Given the description of an element on the screen output the (x, y) to click on. 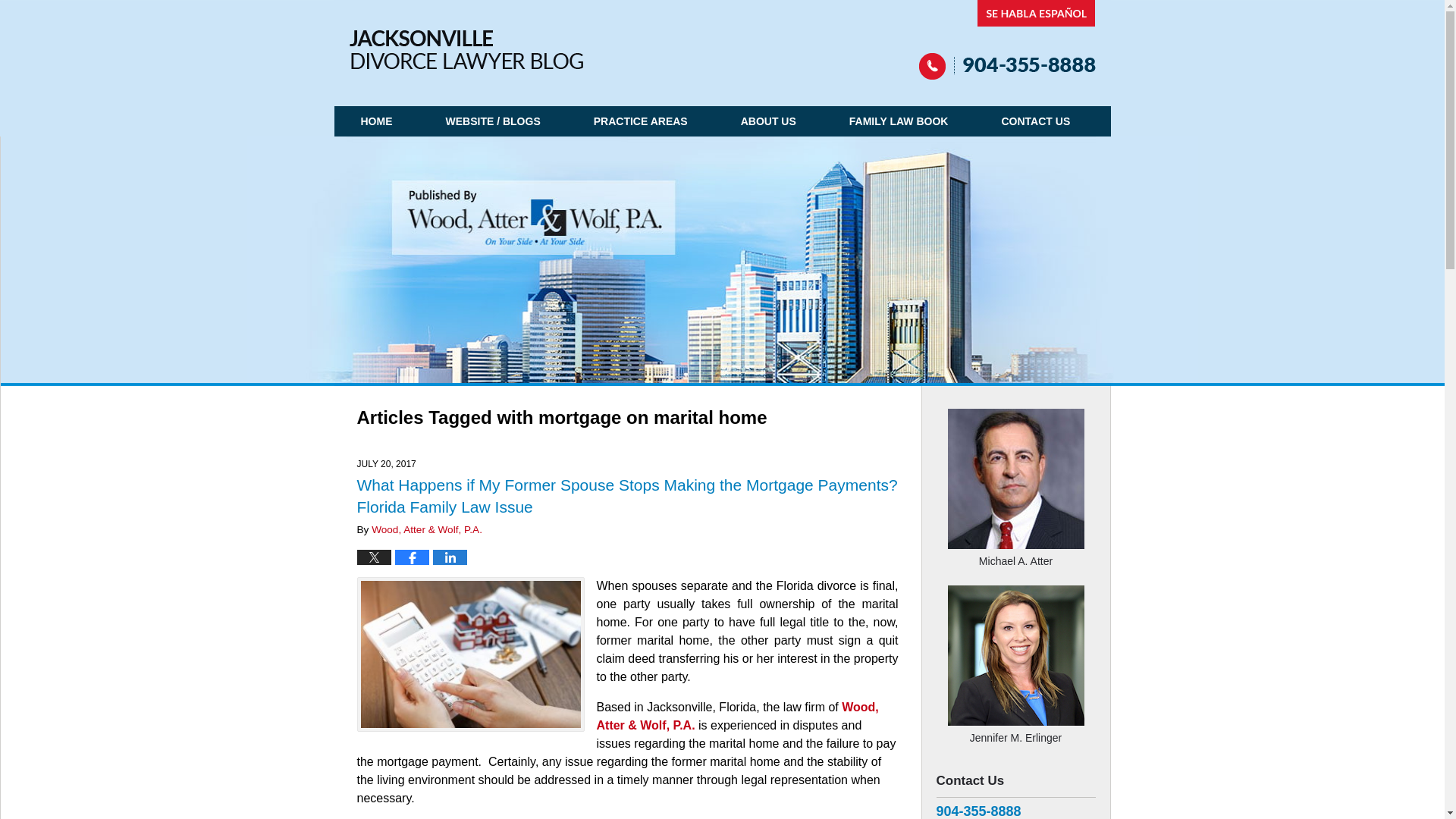
PRACTICE AREAS (640, 121)
CONTACT US (1035, 121)
Jacksonville Divorce Lawyer Blog (465, 49)
ABOUT US (768, 121)
FAMILY LAW BOOK (898, 121)
HOME (376, 121)
Jennifer M. Erlinger (1015, 730)
